Given the description of an element on the screen output the (x, y) to click on. 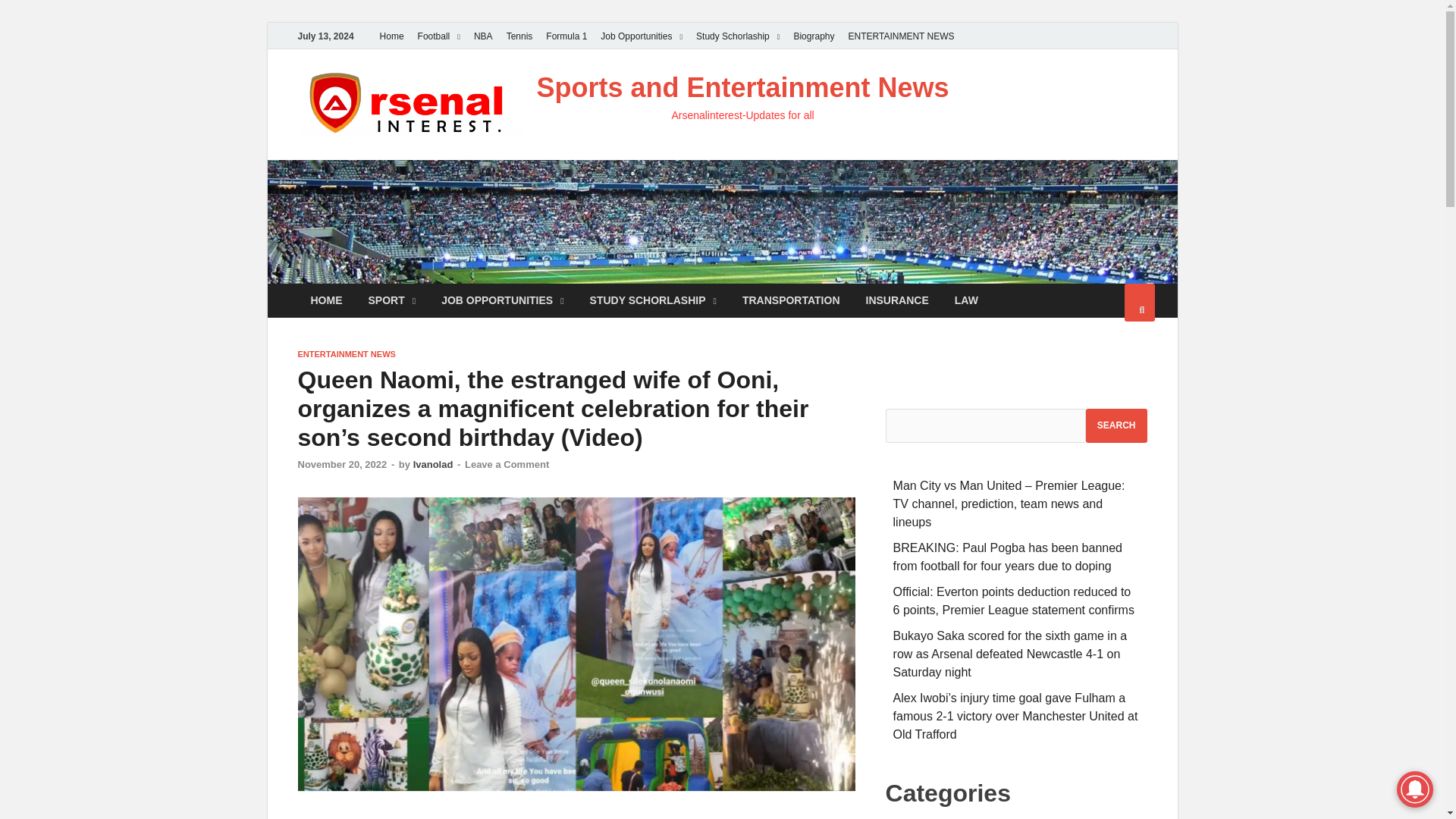
Formula 1 (566, 35)
Tennis (519, 35)
Study Schorlaship (737, 35)
Football (438, 35)
SPORT (391, 300)
NBA (483, 35)
Biography (813, 35)
Sports and Entertainment News (743, 87)
HOME (326, 300)
ENTERTAINMENT NEWS (900, 35)
Job Opportunities (641, 35)
Home (391, 35)
